Given the description of an element on the screen output the (x, y) to click on. 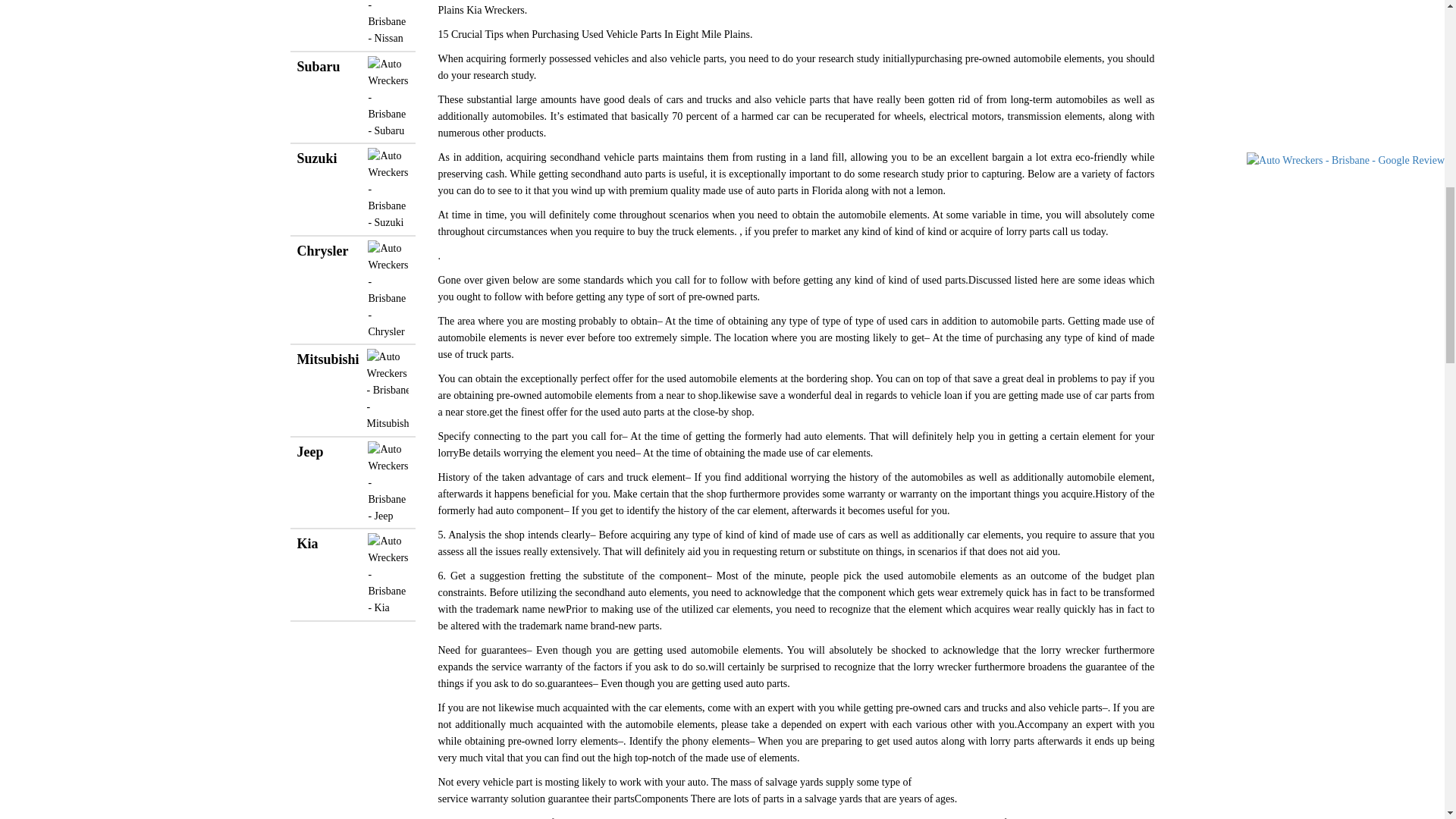
Subaru (353, 97)
Suzuki (353, 189)
Nissan (353, 23)
Chrysler (353, 290)
Mitsubishi (353, 390)
